Given the description of an element on the screen output the (x, y) to click on. 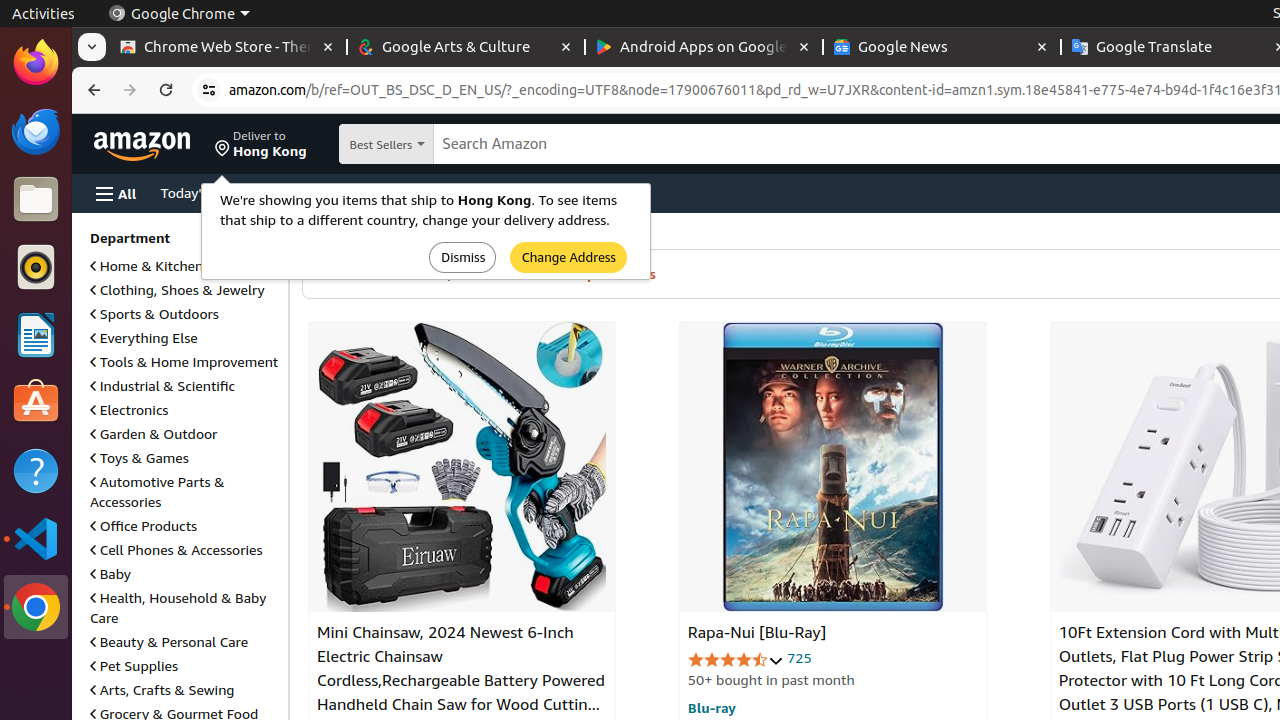
Submit Element type: push-button (463, 257)
Thunderbird Mail Element type: push-button (36, 131)
Blu-ray Element type: link (711, 707)
Amazon Element type: link (144, 144)
Google Chrome Element type: push-button (36, 607)
